Given the description of an element on the screen output the (x, y) to click on. 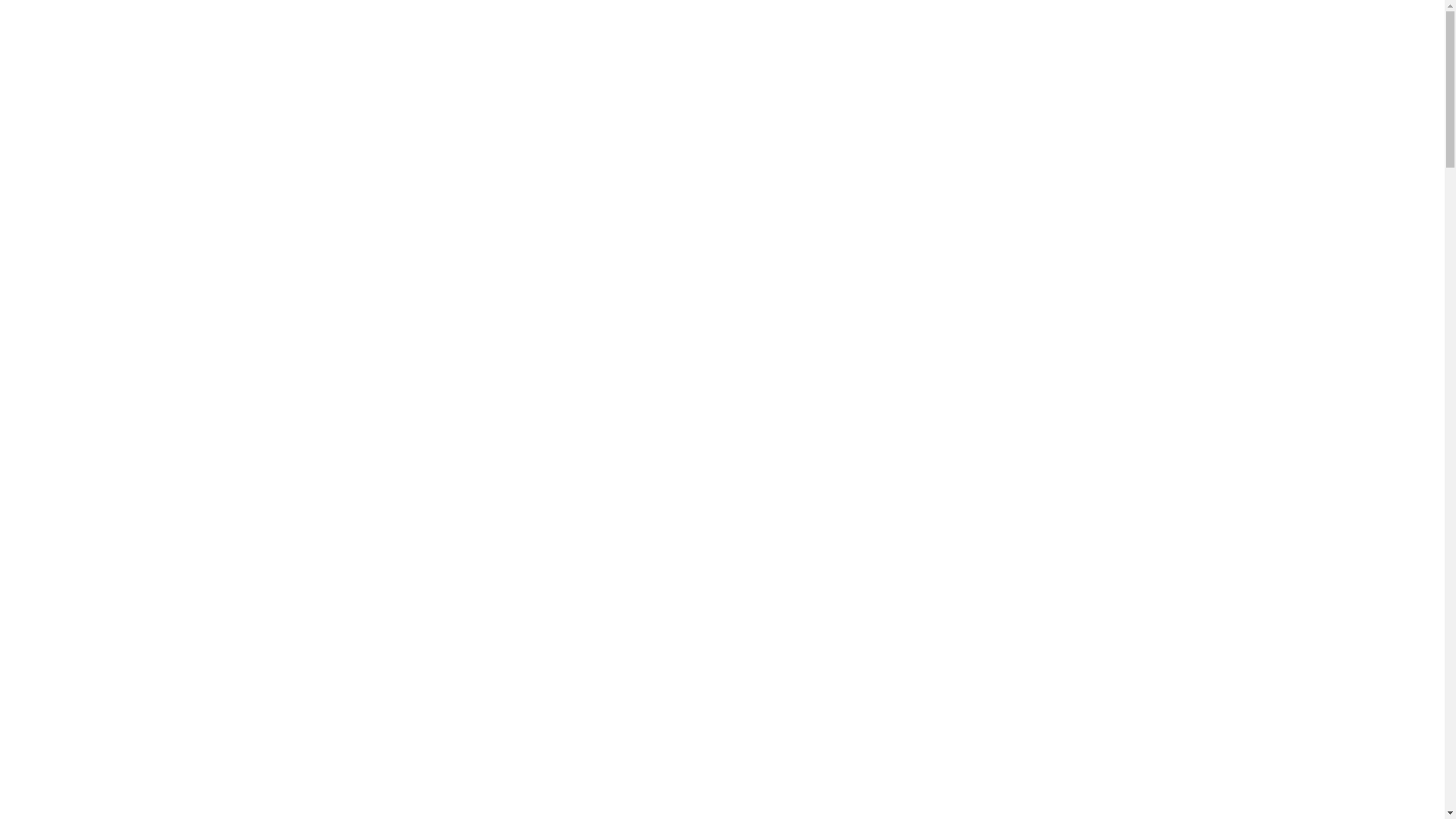
Learn More Element type: text (648, 340)
Member Directory Element type: text (779, 340)
Jobs Element type: text (794, 28)
Members Element type: text (611, 28)
About Element type: text (832, 28)
Home Element type: text (561, 28)
Events Element type: text (663, 28)
Seaside Markets Element type: text (731, 28)
Contact Element type: text (878, 28)
